Given the description of an element on the screen output the (x, y) to click on. 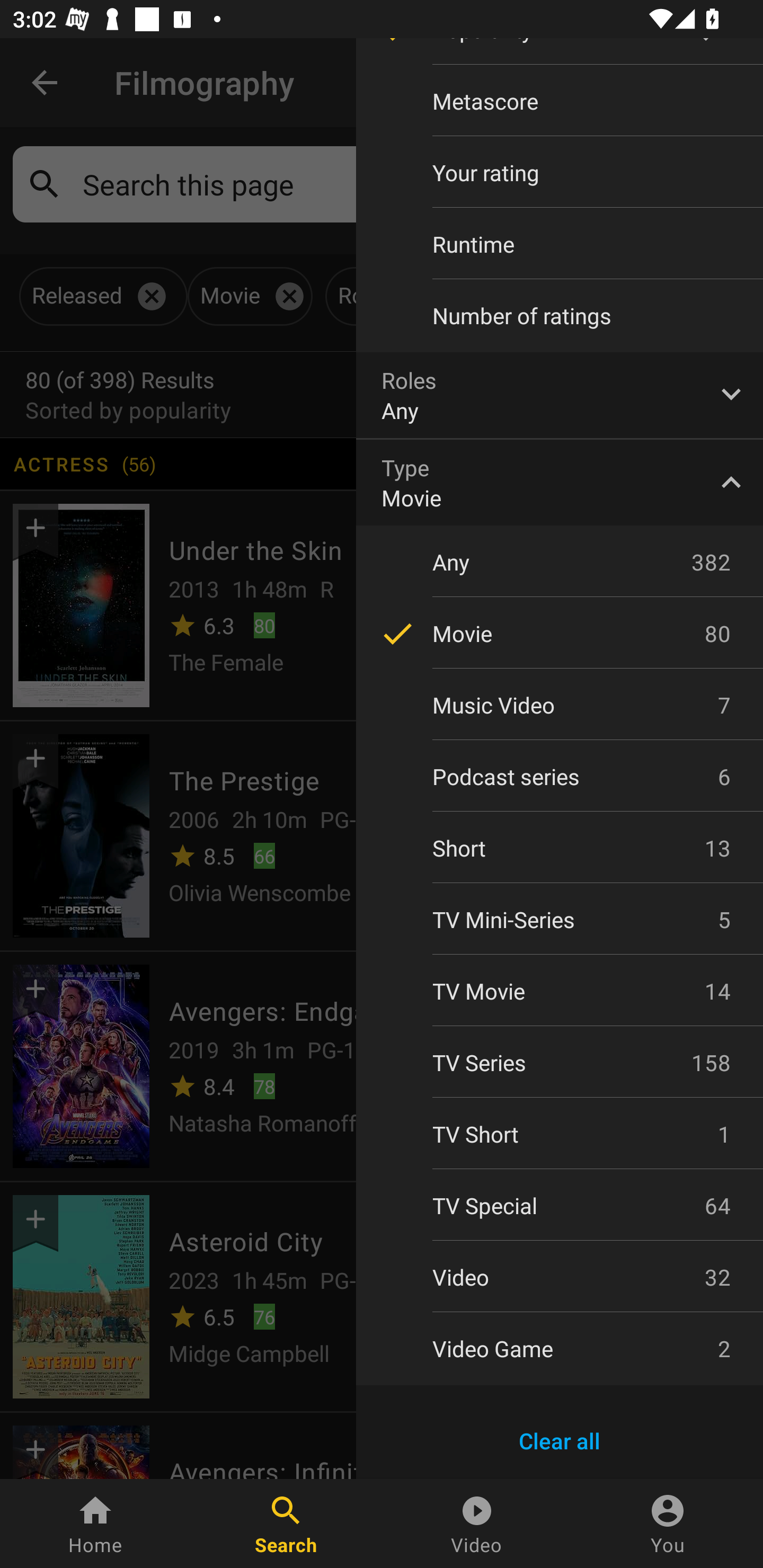
Metascore (559, 100)
Your rating (559, 171)
Runtime (559, 243)
Number of ratings (559, 315)
Roles Any (559, 394)
Type Movie (559, 482)
Any 382 (559, 561)
Movie 80 (559, 632)
Music Video 7 (559, 704)
Podcast series 6 (559, 776)
Short 13 (559, 847)
TV Mini-Series 5 (559, 919)
TV Movie 14 (559, 990)
TV Series 158 (559, 1062)
TV Short 1 (559, 1134)
TV Special 64 (559, 1205)
Video 32 (559, 1276)
Video Game 2 (559, 1347)
Clear all (559, 1440)
Home (95, 1523)
Video (476, 1523)
You (667, 1523)
